Given the description of an element on the screen output the (x, y) to click on. 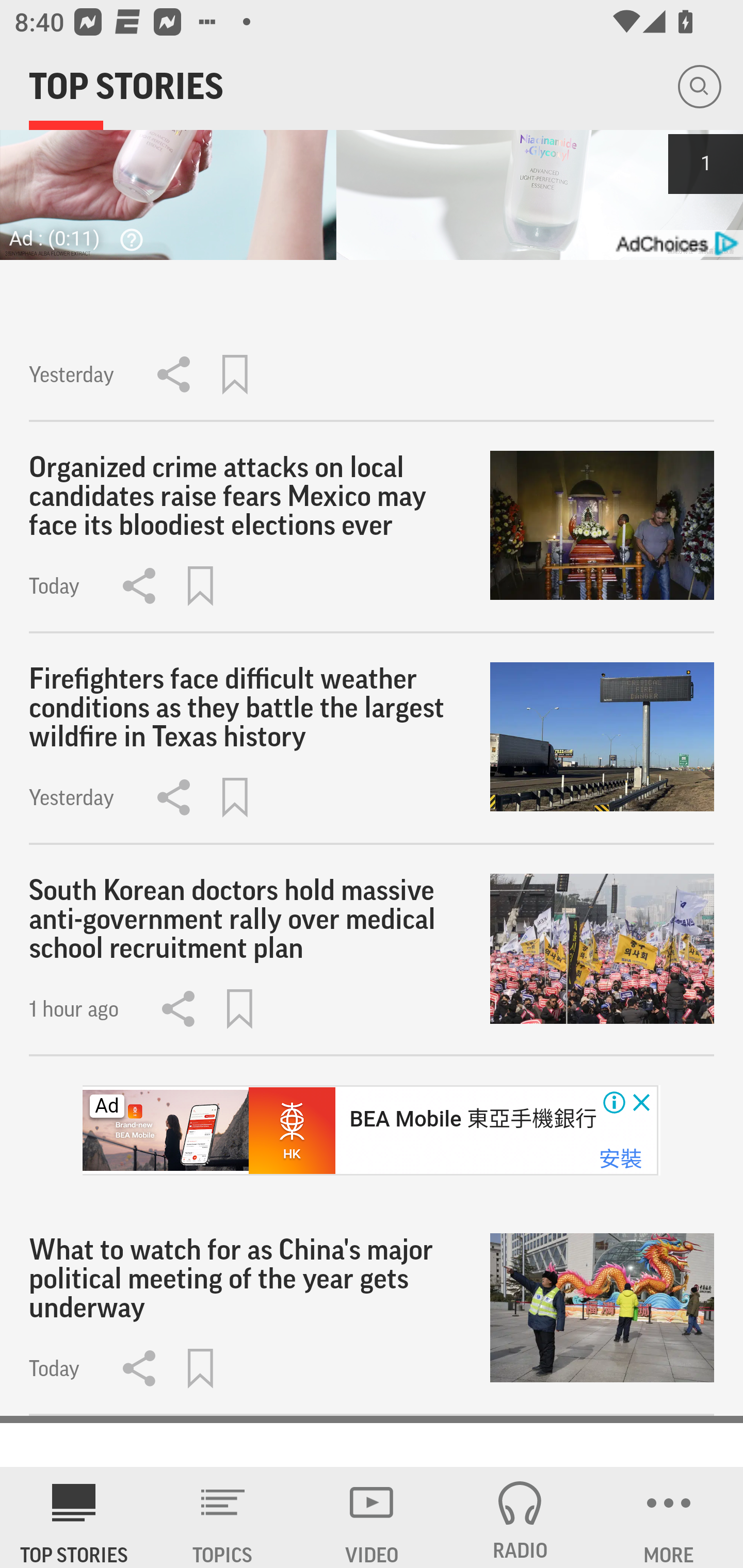
Skip Ad Countdown (705, 162)
Ad : (0:12) Why This Ad? (82, 237)
Why This Ad? (126, 238)
get?name=admarker-full-tl (675, 243)
BEA Mobile 東亞手機銀行 (471, 1119)
安裝 (620, 1159)
AP News TOP STORIES (74, 1517)
TOPICS (222, 1517)
VIDEO (371, 1517)
RADIO (519, 1517)
MORE (668, 1517)
